Given the description of an element on the screen output the (x, y) to click on. 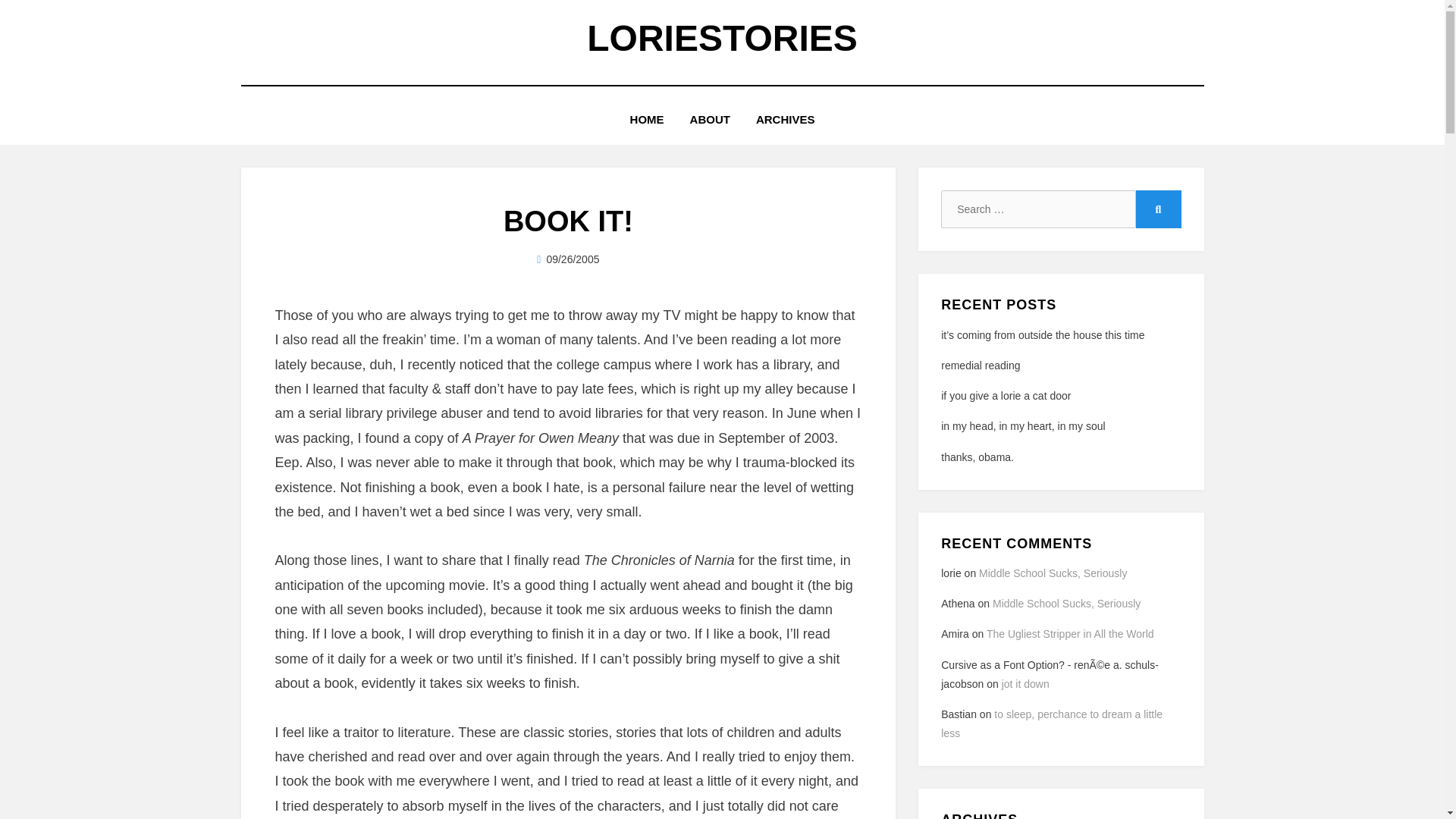
loriestories (721, 38)
Search for: (1037, 209)
HOME (647, 118)
ABOUT (709, 118)
LORIESTORIES (721, 38)
lorie (569, 259)
ARCHIVES (785, 118)
